Given the description of an element on the screen output the (x, y) to click on. 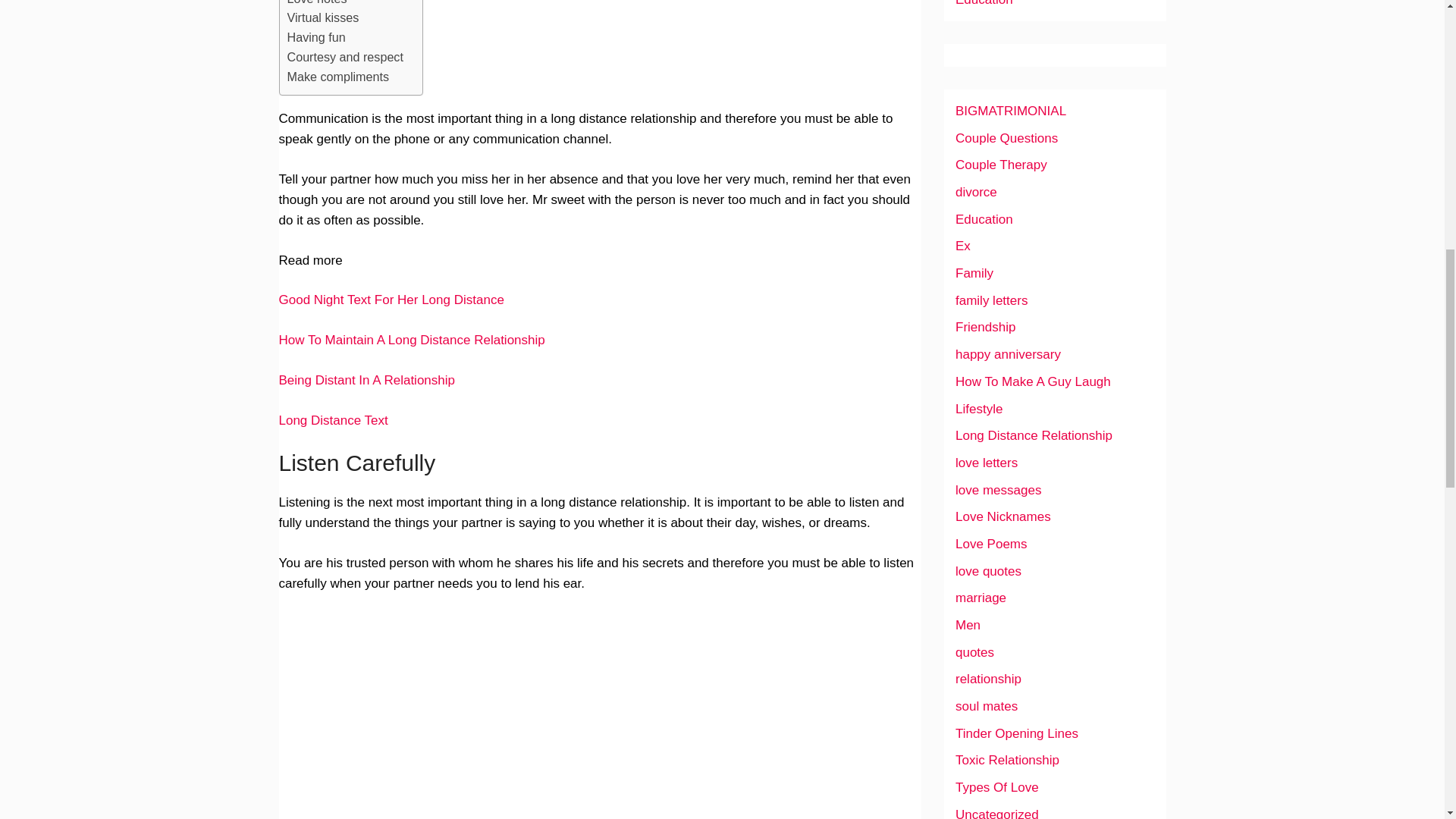
Courtesy and respect (344, 57)
Love notes (316, 4)
Being Distant In A Relationship (366, 380)
Education (984, 219)
How To Maintain A Long Distance Relationship (411, 339)
Family (973, 273)
Couple Therapy (1000, 164)
Virtual kisses (322, 17)
Good Night Text For Her Long Distance (391, 299)
